Given the description of an element on the screen output the (x, y) to click on. 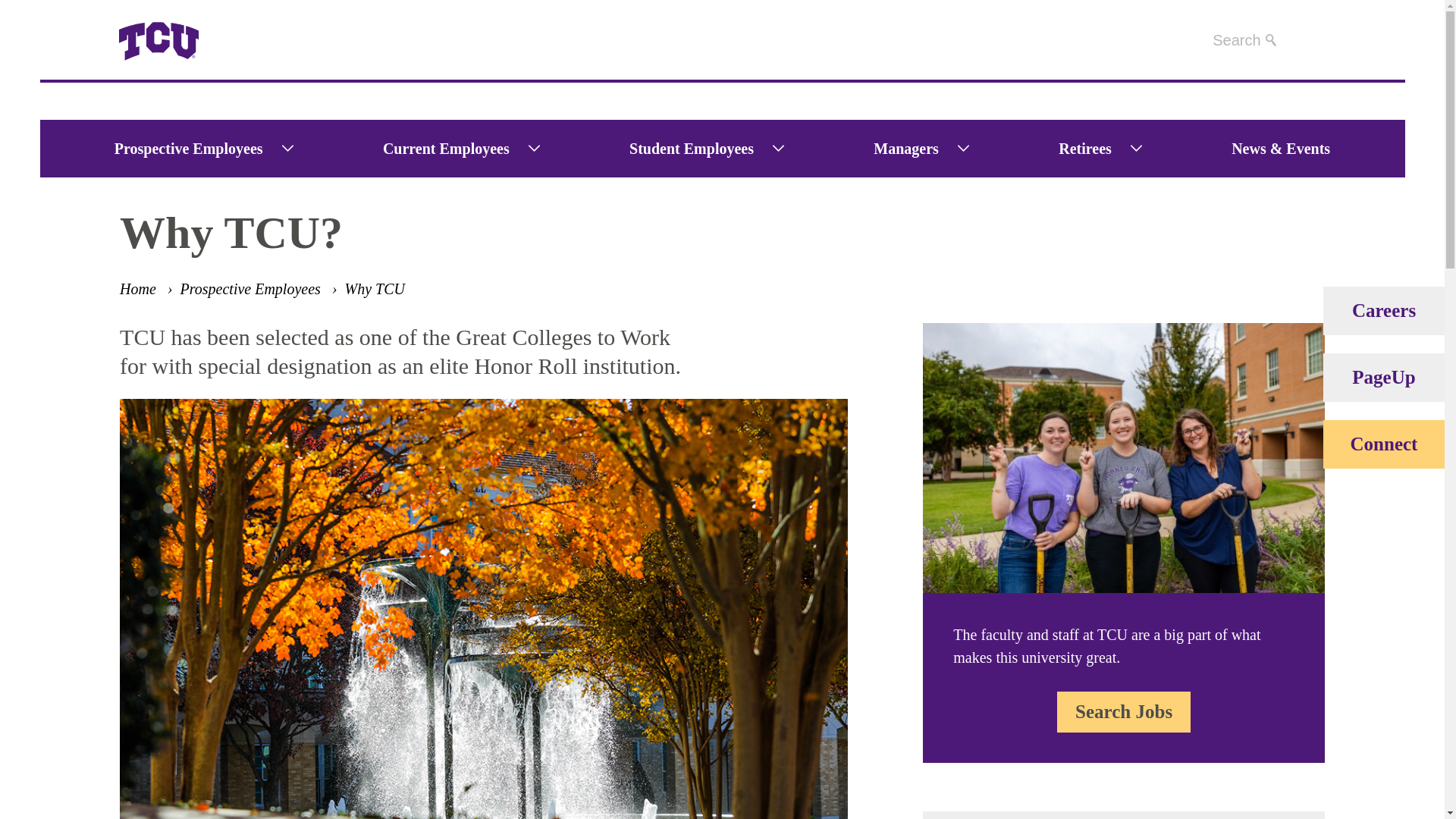
Current Employees (437, 148)
Human Resources (229, 59)
Prospective Employees (180, 148)
